Given the description of an element on the screen output the (x, y) to click on. 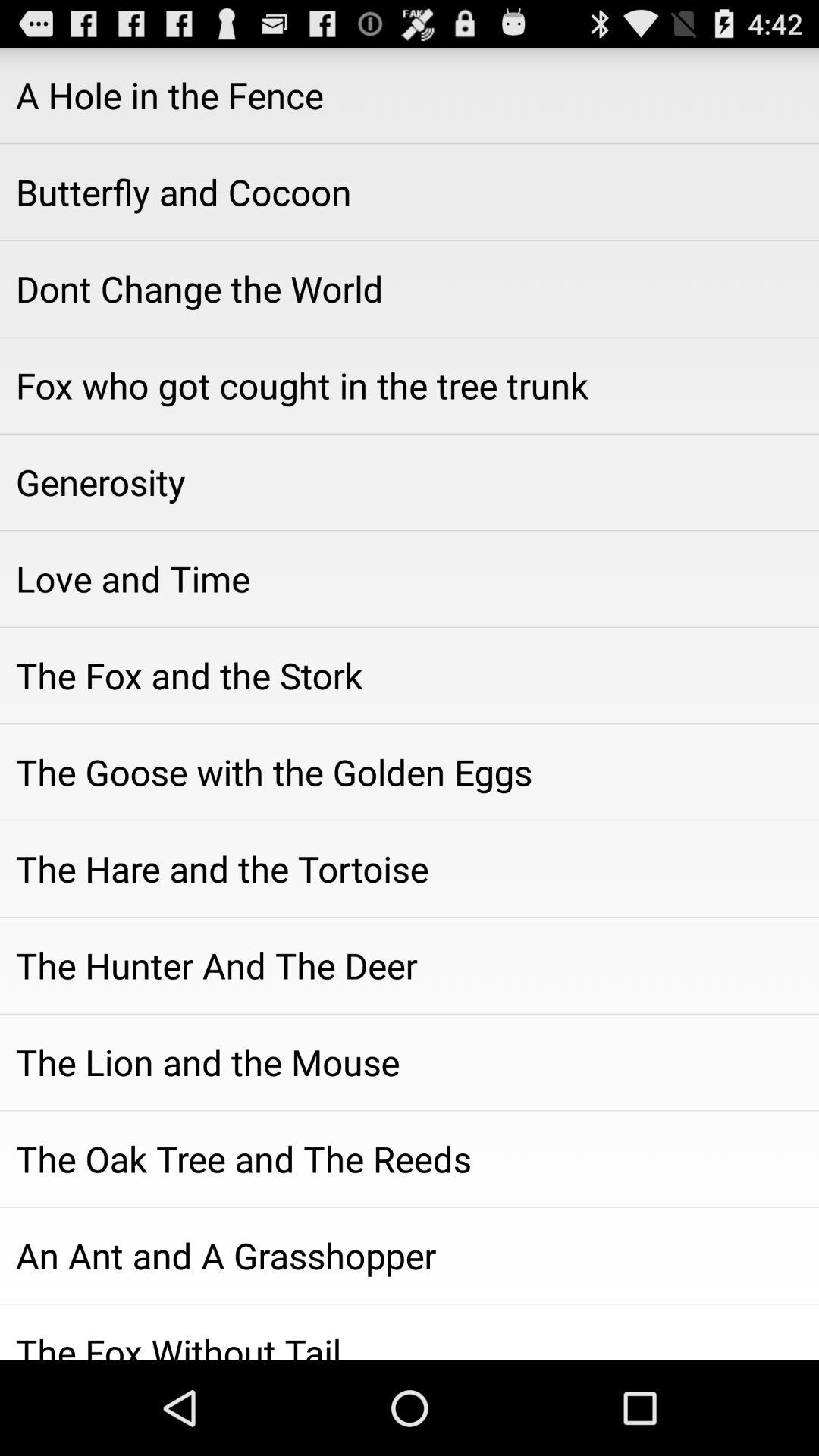
select item below butterfly and cocoon (409, 288)
